Given the description of an element on the screen output the (x, y) to click on. 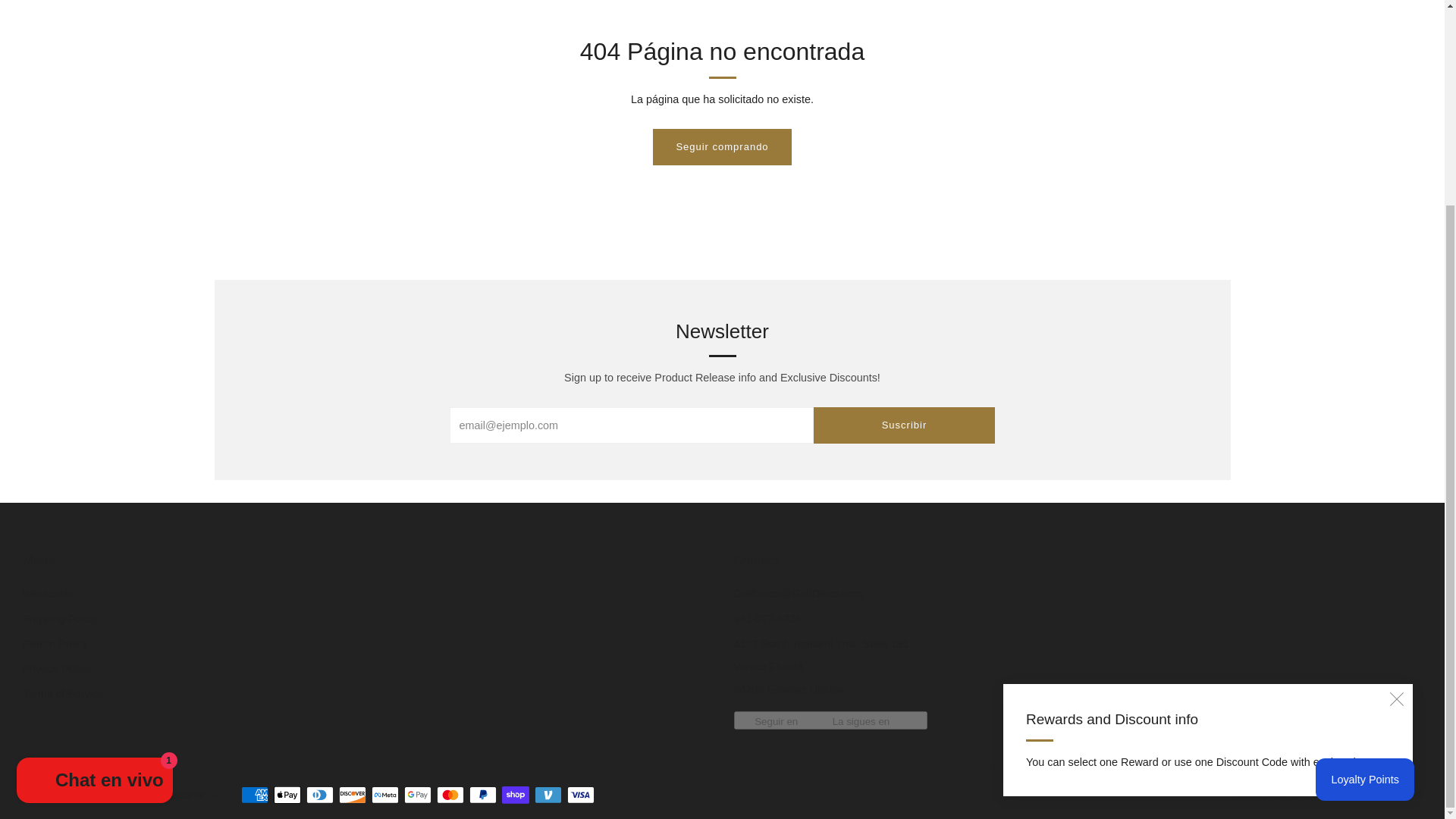
Chat de la tienda online Shopify (94, 517)
